Given the description of an element on the screen output the (x, y) to click on. 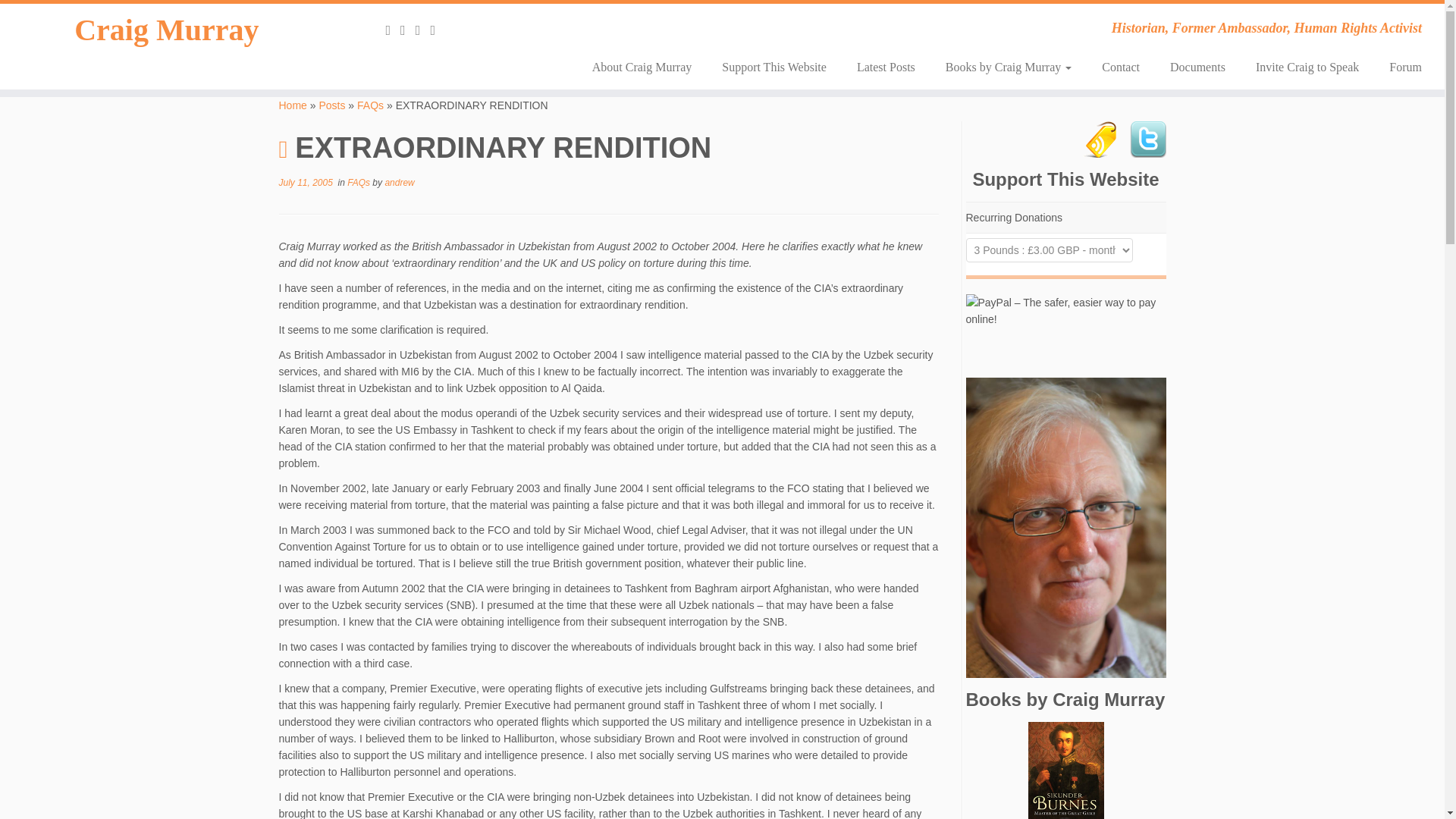
FAQs (370, 105)
Contact (1120, 67)
Forum (1398, 67)
Follow me on Facebook (437, 29)
About Craig Murray (641, 67)
July 11, 2005 (306, 182)
Home (293, 105)
View all posts by andrew (398, 182)
E-mail (407, 29)
Support This Website (773, 67)
